Given the description of an element on the screen output the (x, y) to click on. 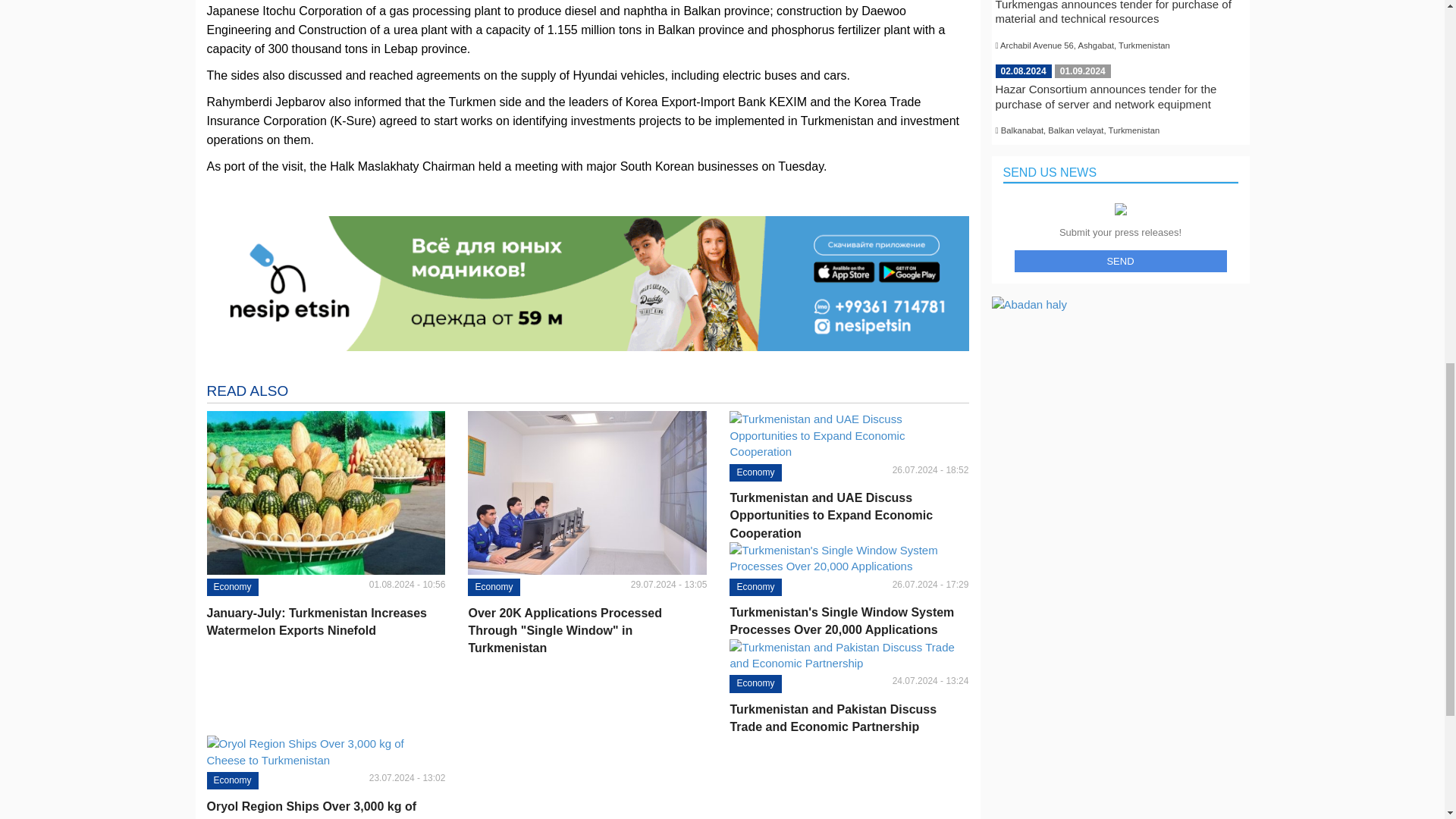
Oryol Region Ships Over 3,000 kg of Cheese to Turkmenistan (325, 808)
Economy (754, 472)
Economy (231, 587)
Economy (754, 683)
Economy (754, 587)
